Given the description of an element on the screen output the (x, y) to click on. 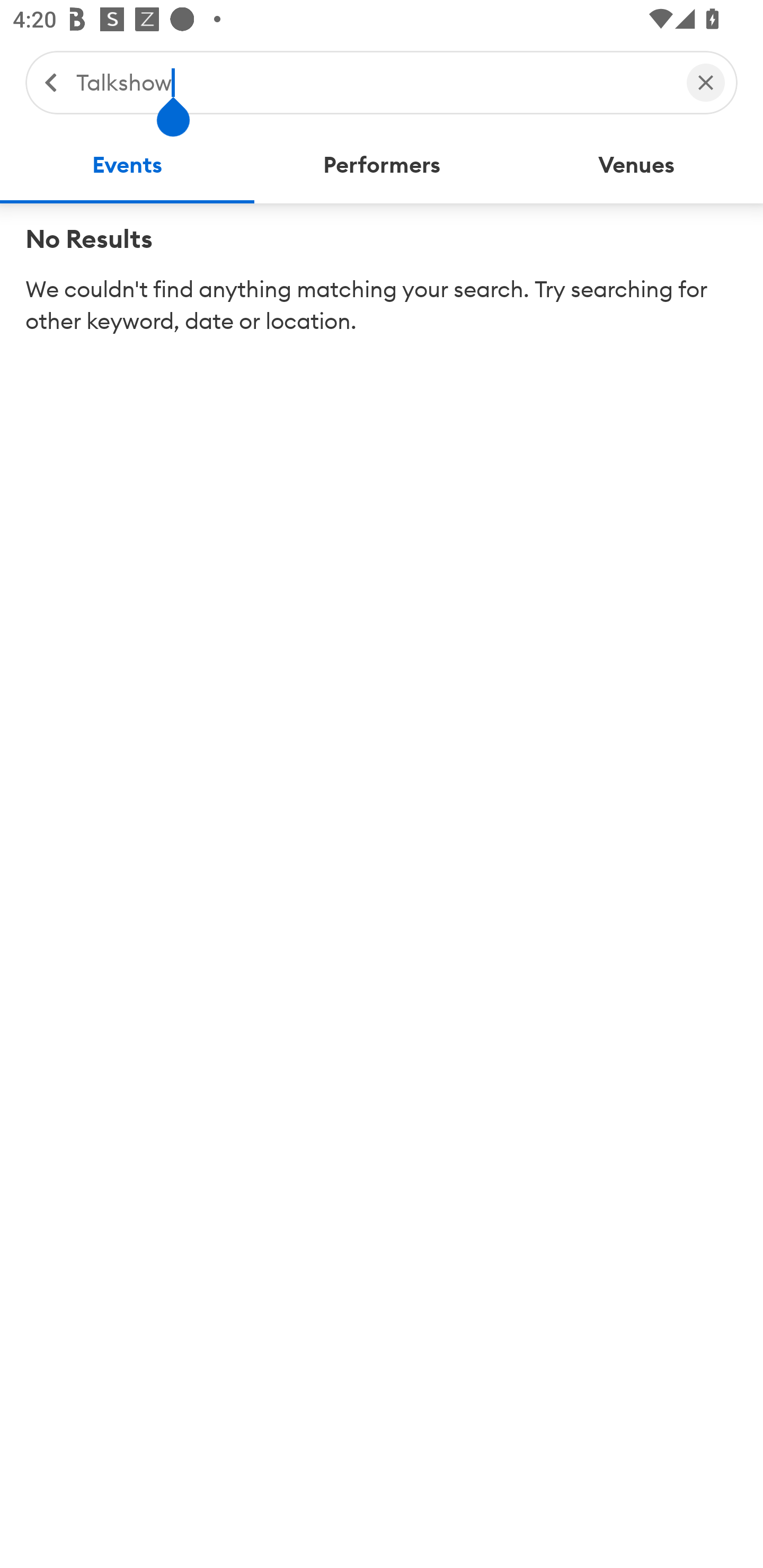
Talkshow (371, 81)
Clear Search (705, 81)
Performers (381, 165)
Venues (635, 165)
